Given the description of an element on the screen output the (x, y) to click on. 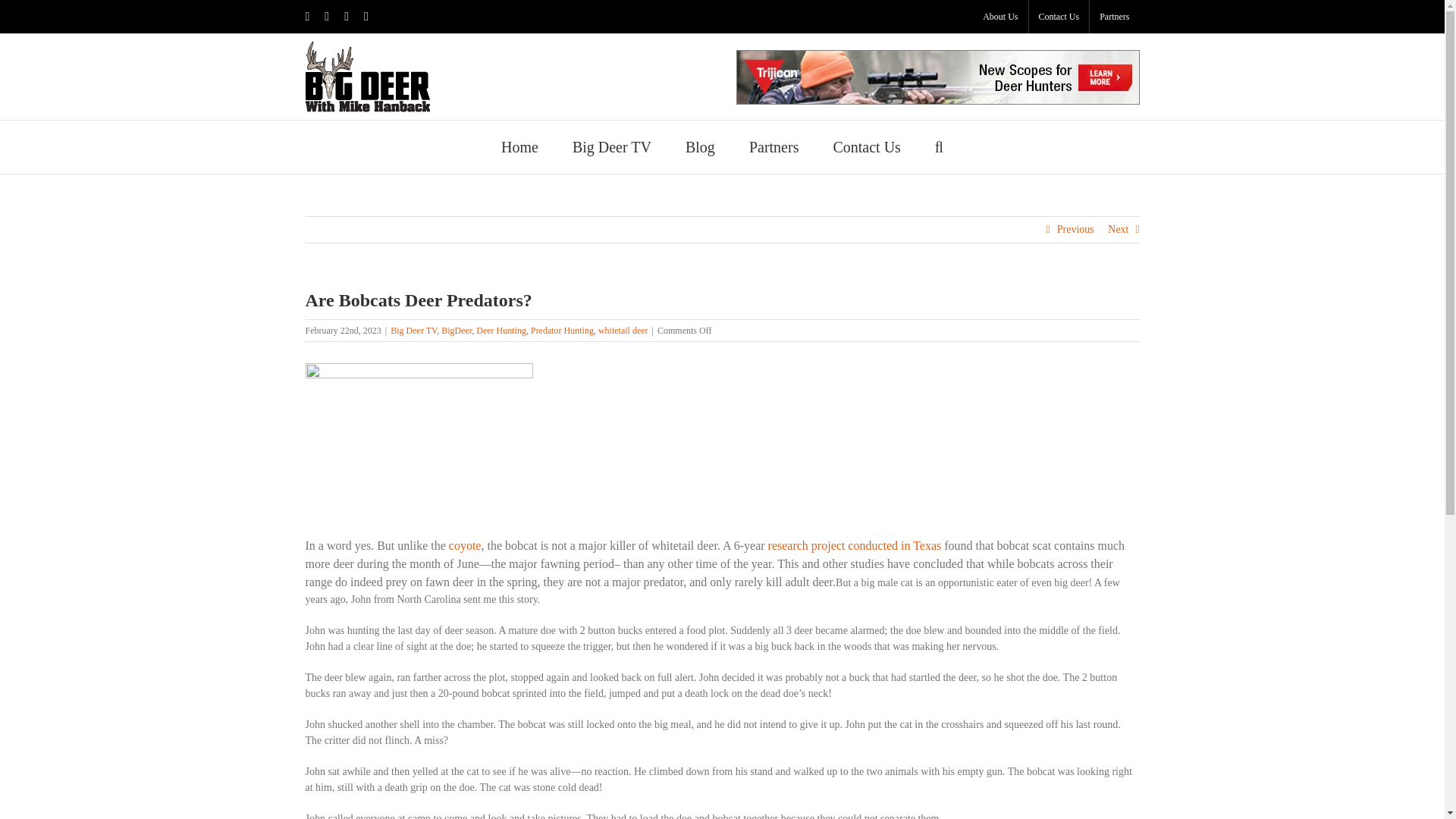
Contact Us (865, 146)
Partners (774, 146)
Contact Us (1058, 16)
About Us (999, 16)
Big Deer TV (611, 146)
Partners (1113, 16)
